Given the description of an element on the screen output the (x, y) to click on. 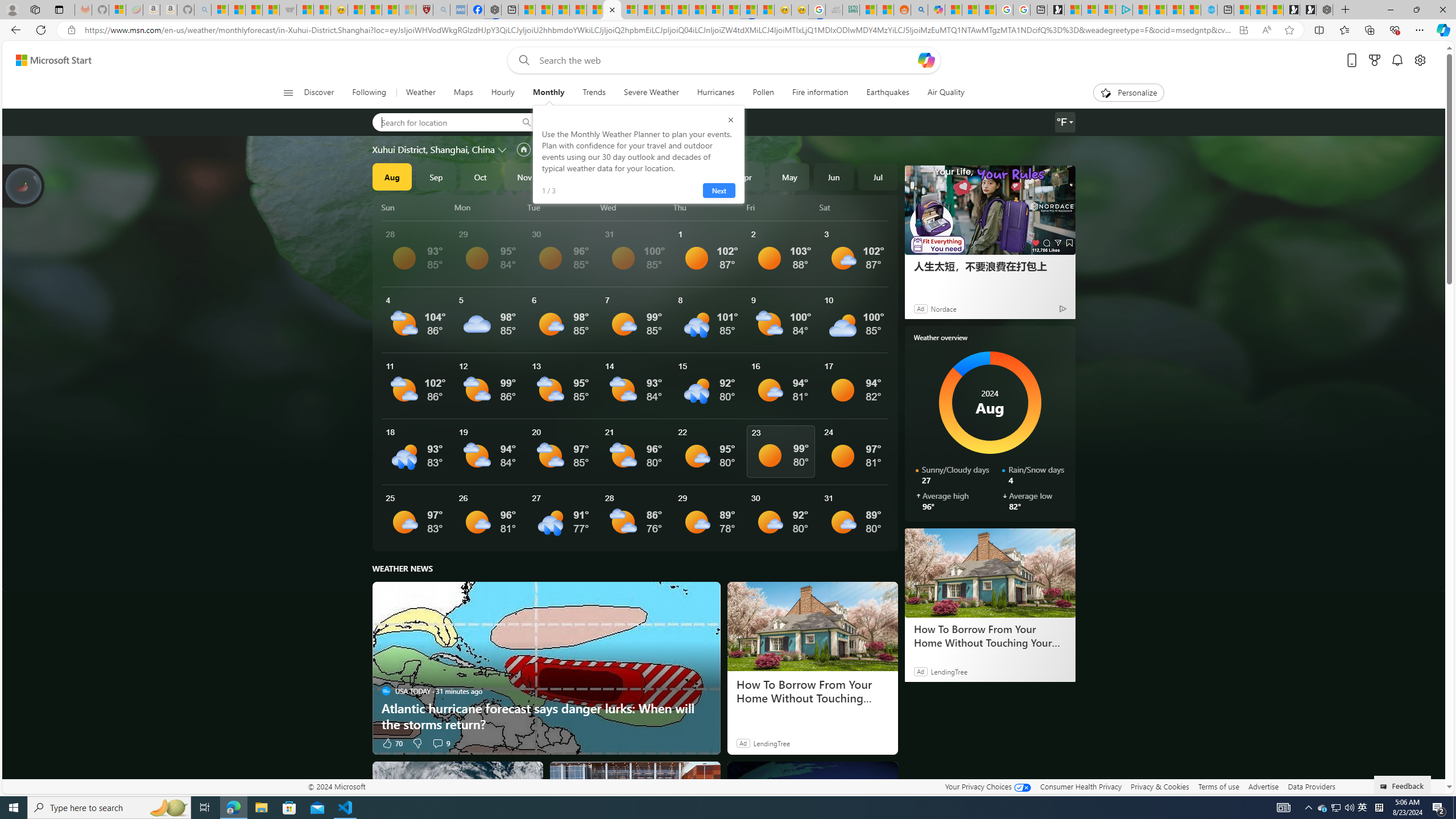
Jul (877, 176)
Data Providers (1311, 785)
LendingTree (771, 742)
Next (718, 190)
Science - MSN (390, 9)
Hourly (502, 92)
